Given the description of an element on the screen output the (x, y) to click on. 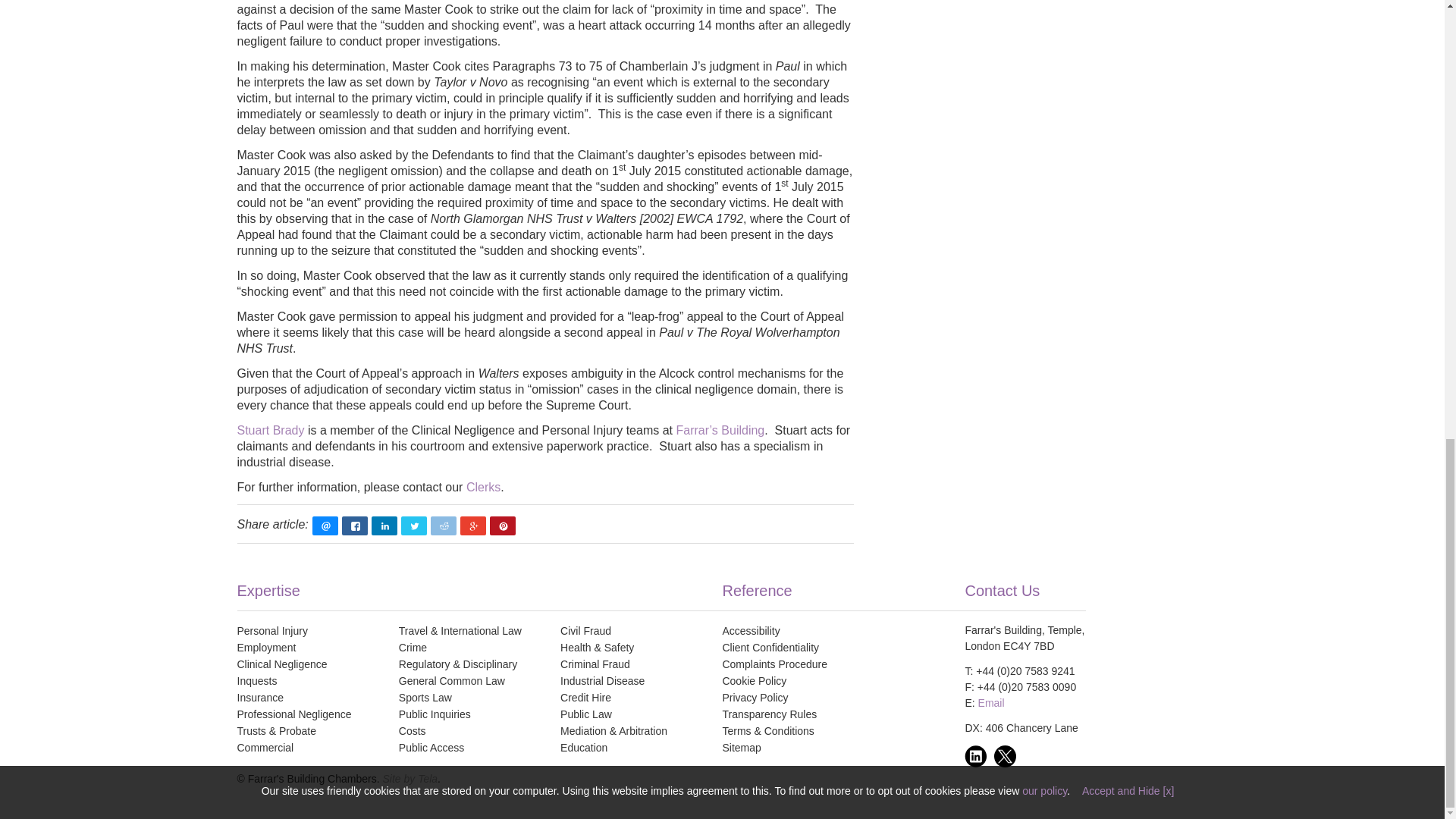
Tela Digital Agency (409, 778)
